Given the description of an element on the screen output the (x, y) to click on. 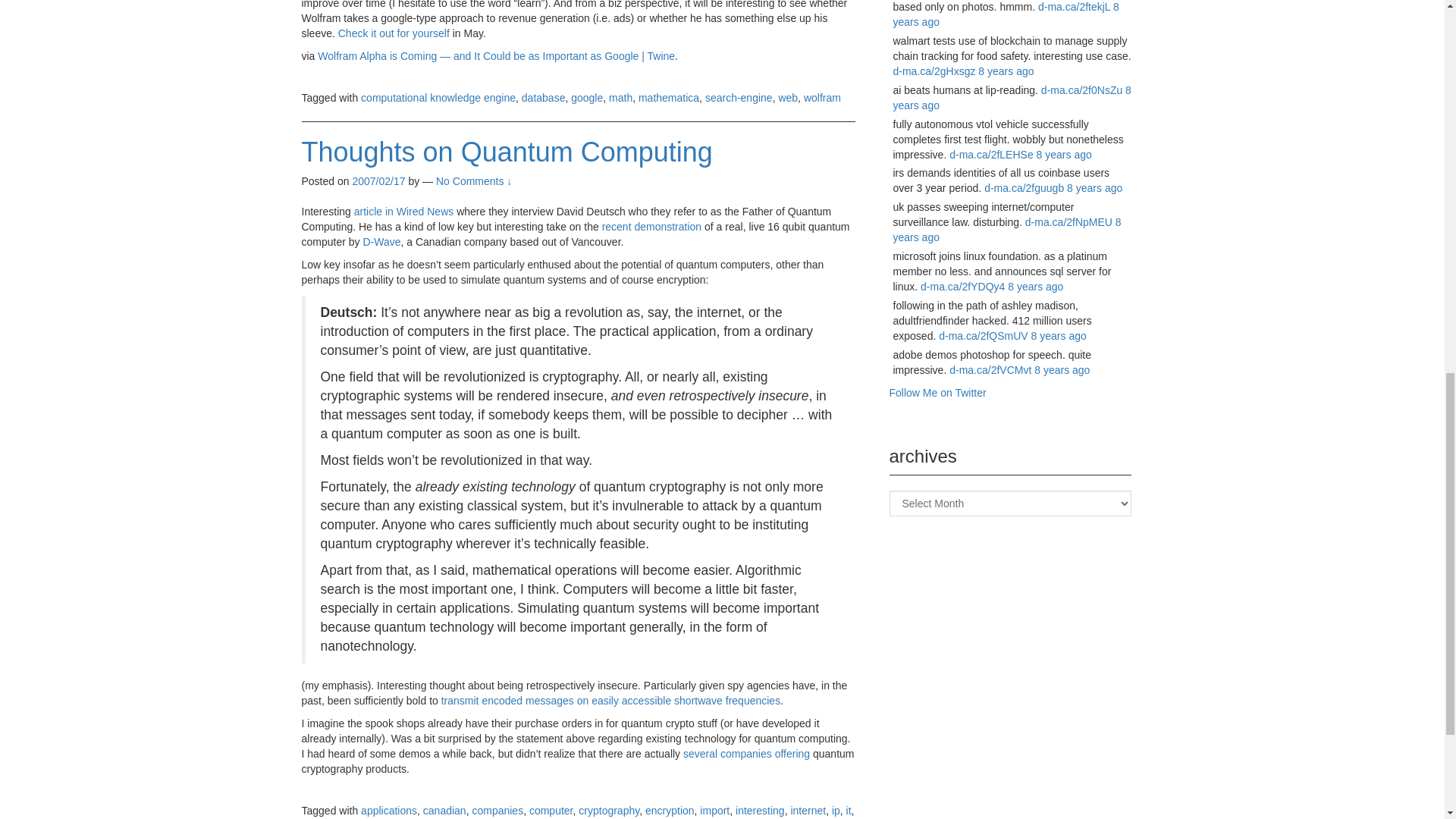
google (586, 97)
computer (551, 810)
Check it out for yourself (393, 33)
cryptography (608, 810)
D-Wave (381, 241)
math (619, 97)
recent demonstration (651, 226)
several (699, 753)
companies (745, 753)
import (714, 810)
